Given the description of an element on the screen output the (x, y) to click on. 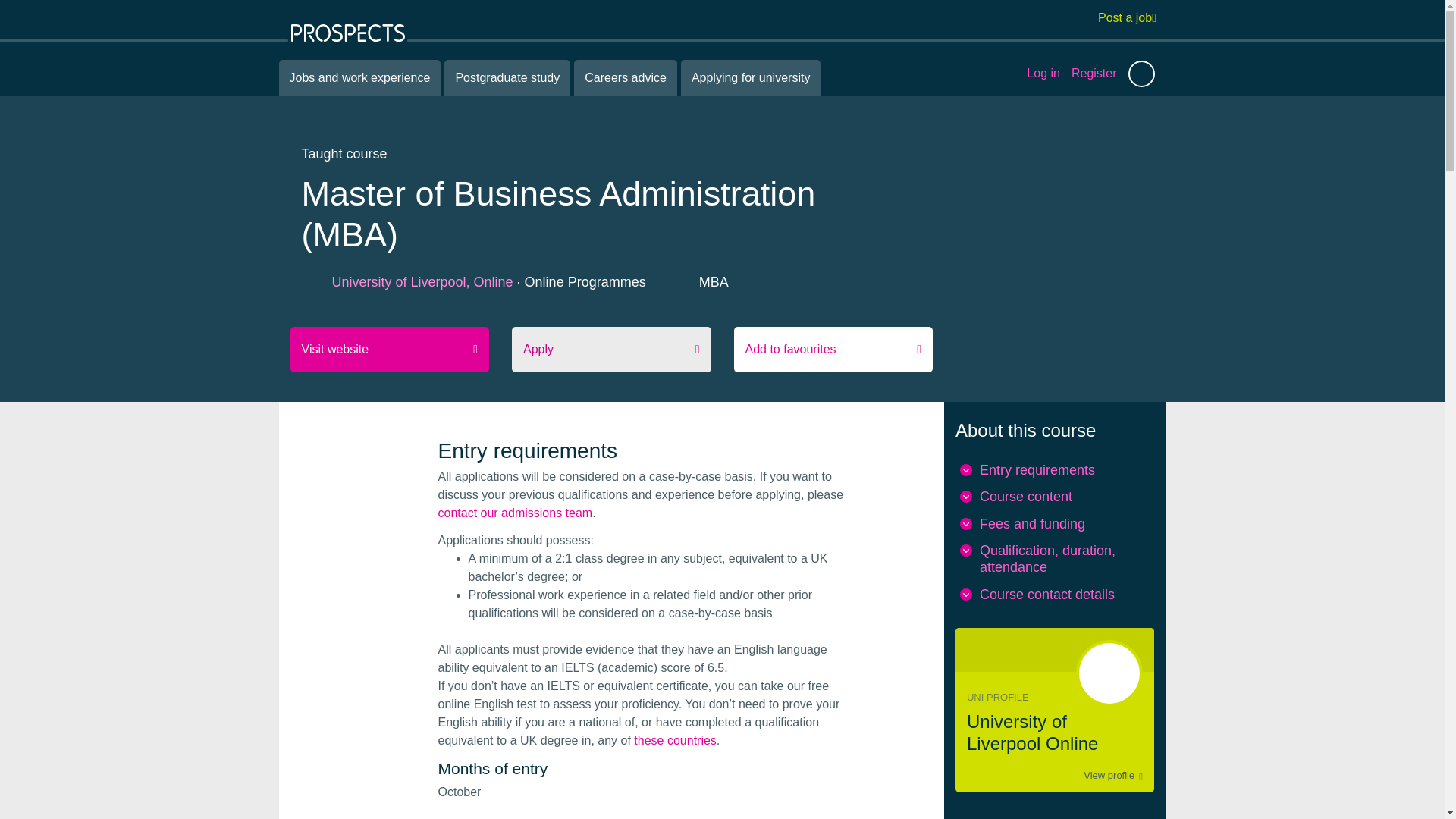
Careers advice (625, 77)
Postgraduate study (507, 77)
Site search (1141, 73)
Post a job (1126, 18)
Applying for university (751, 77)
Jobs and work experience (360, 77)
